Given the description of an element on the screen output the (x, y) to click on. 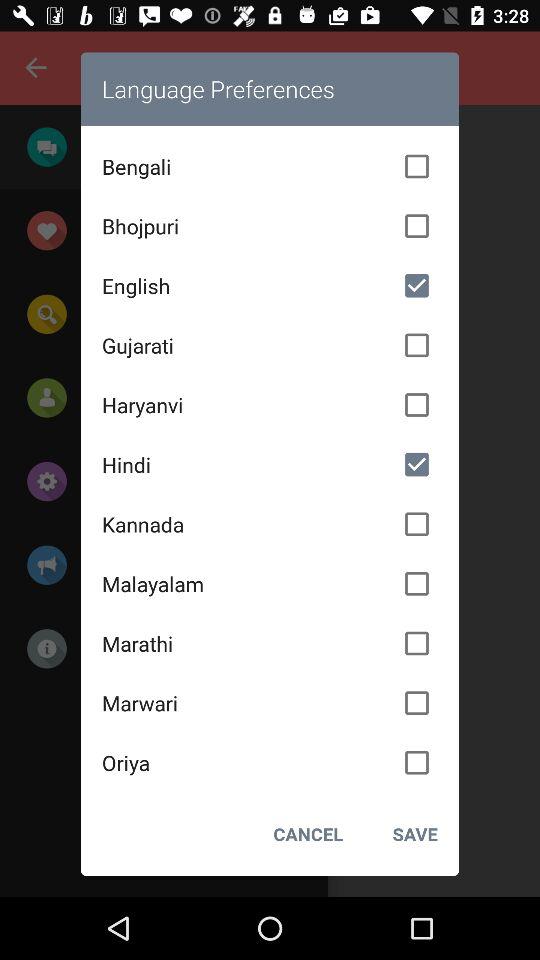
select the icon to the left of the save (307, 833)
